Given the description of an element on the screen output the (x, y) to click on. 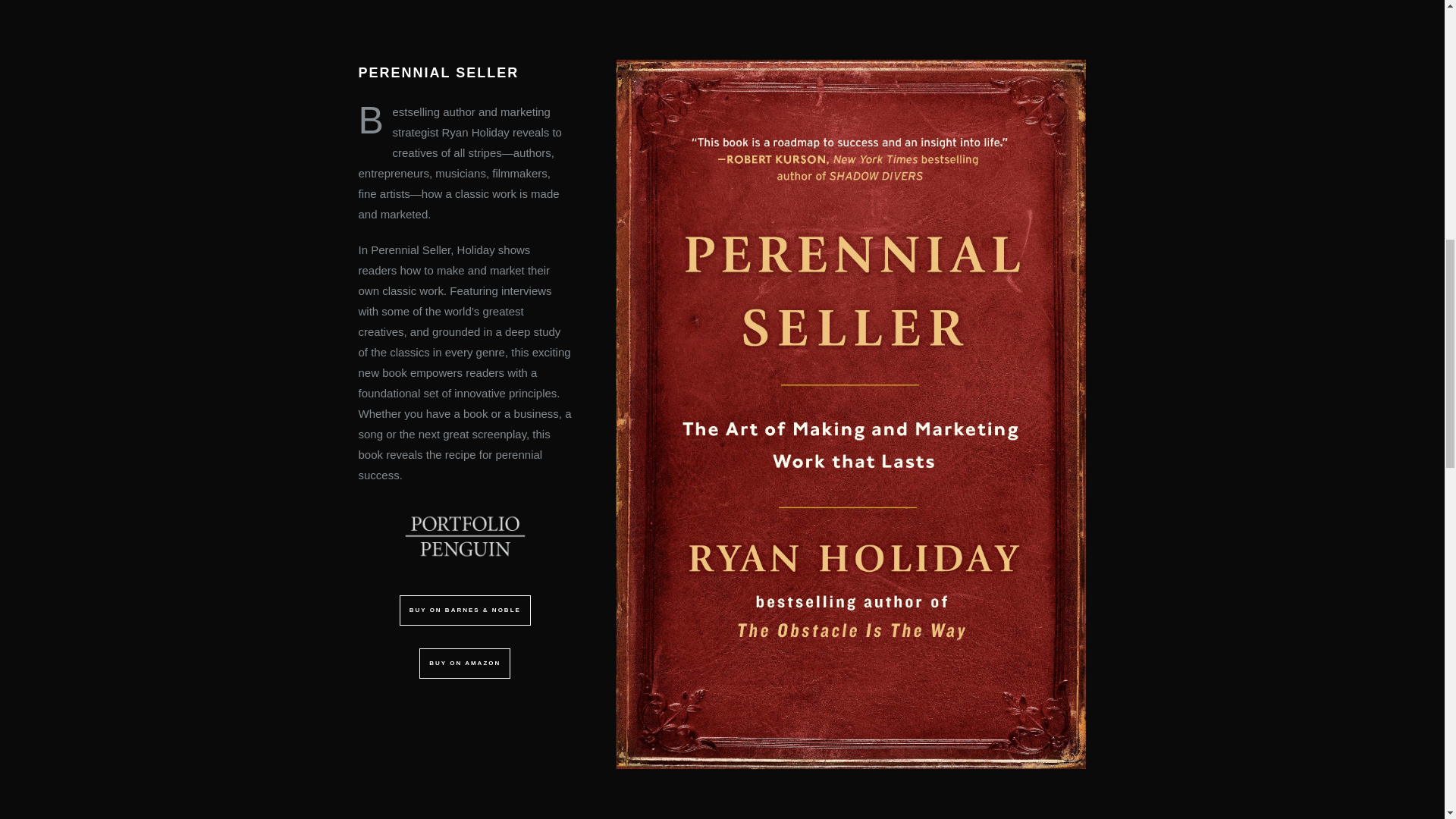
BUY ON AMAZON (459, 663)
